Given the description of an element on the screen output the (x, y) to click on. 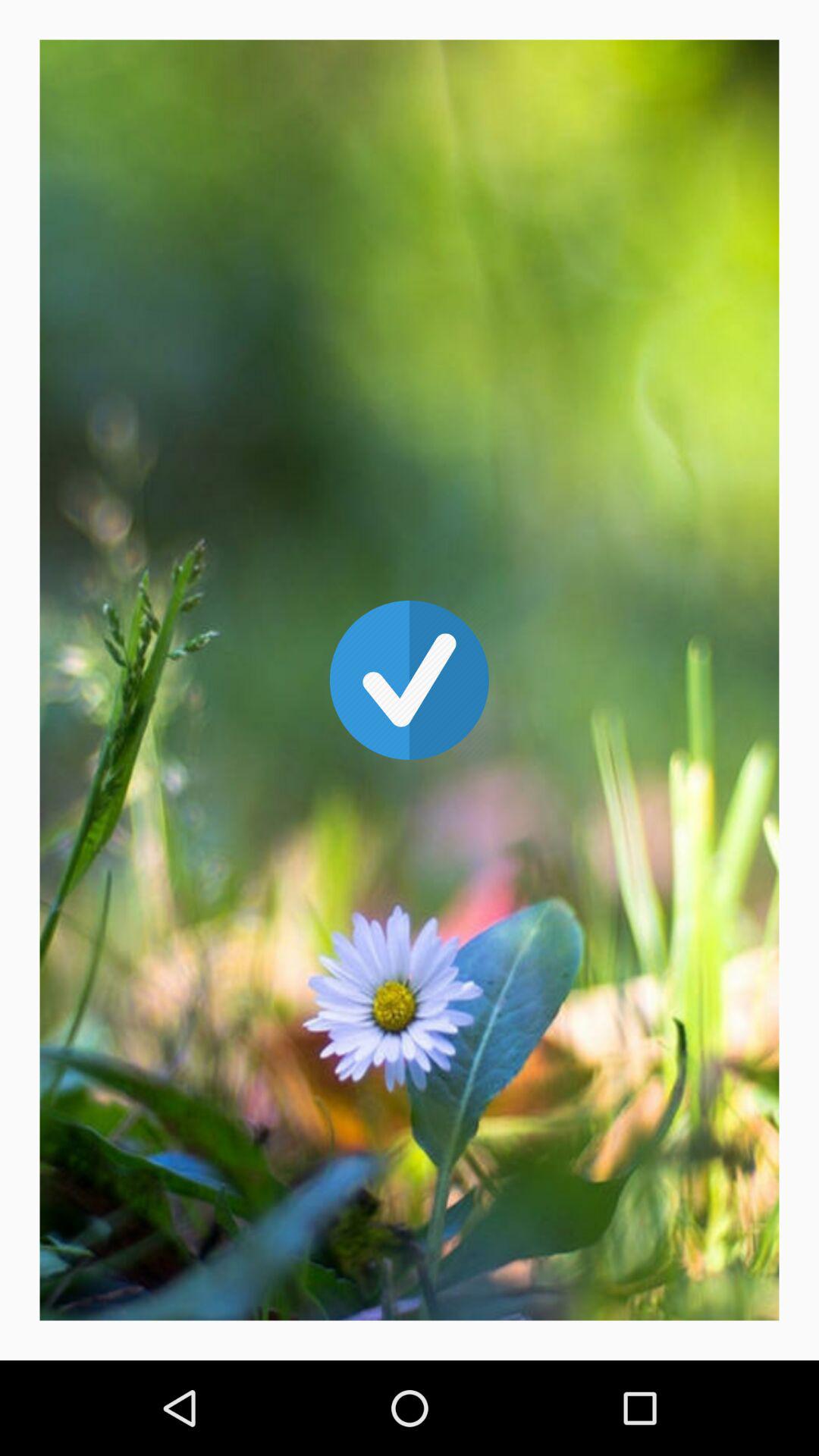
ok button (409, 679)
